Given the description of an element on the screen output the (x, y) to click on. 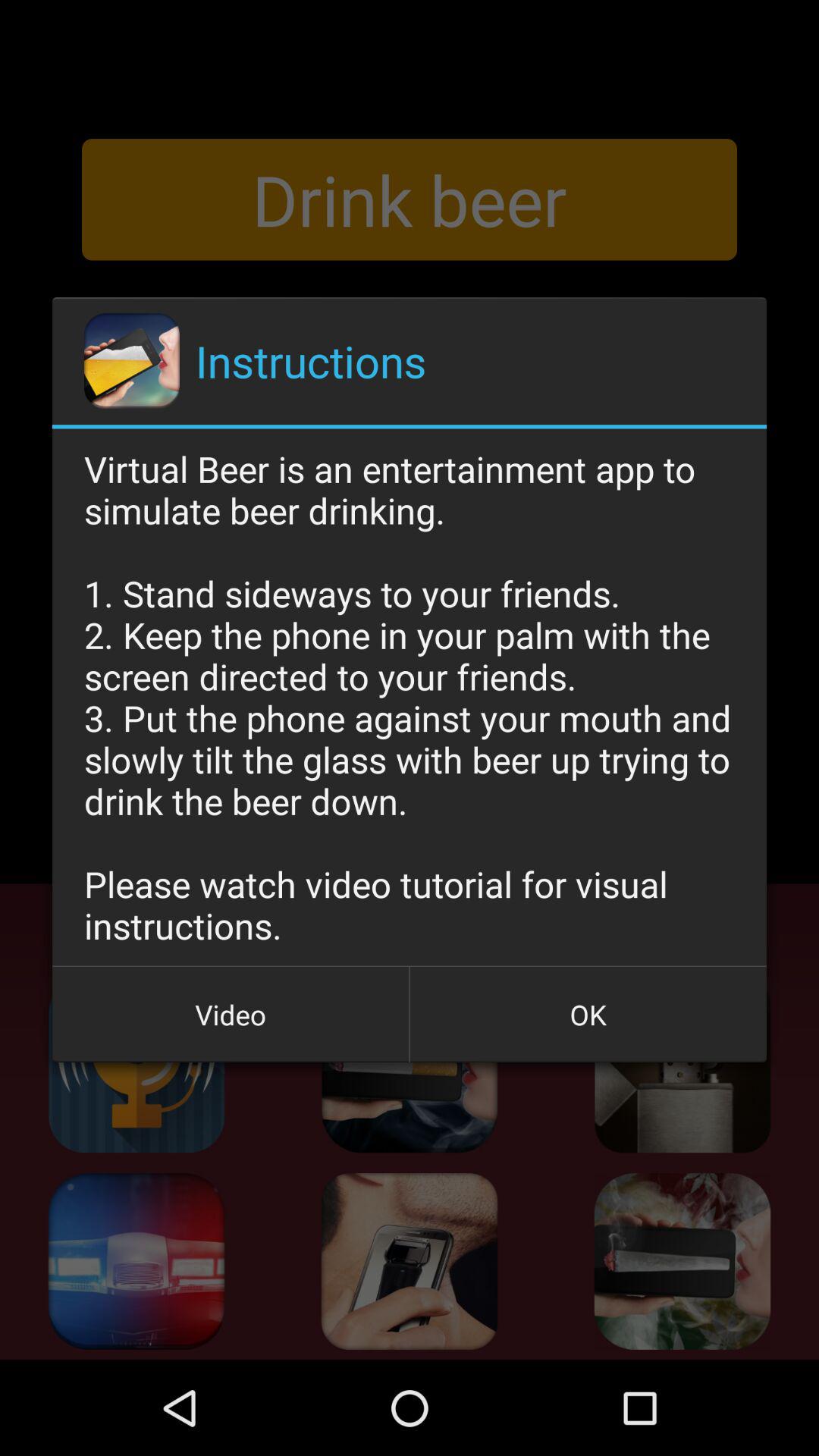
launch the icon next to video icon (588, 1014)
